Given the description of an element on the screen output the (x, y) to click on. 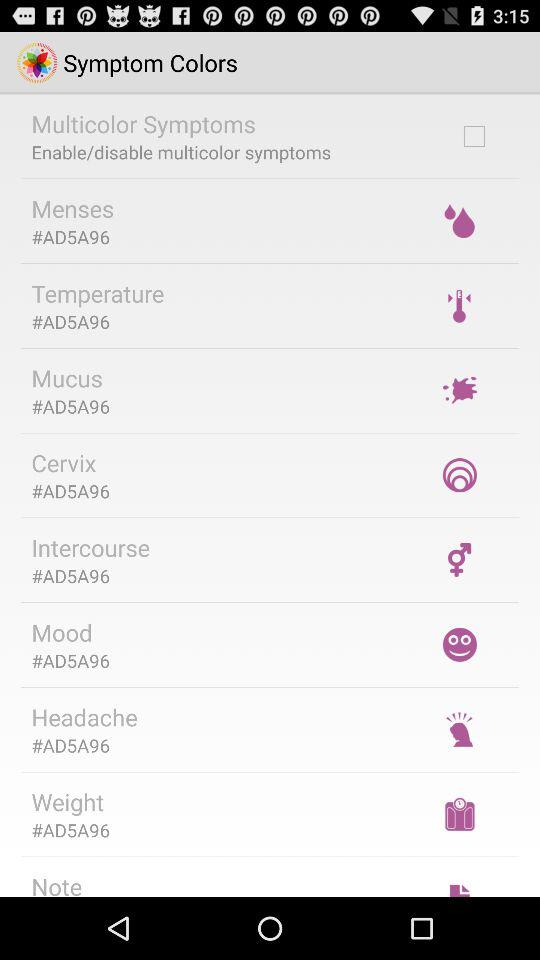
scroll to note app (56, 883)
